Given the description of an element on the screen output the (x, y) to click on. 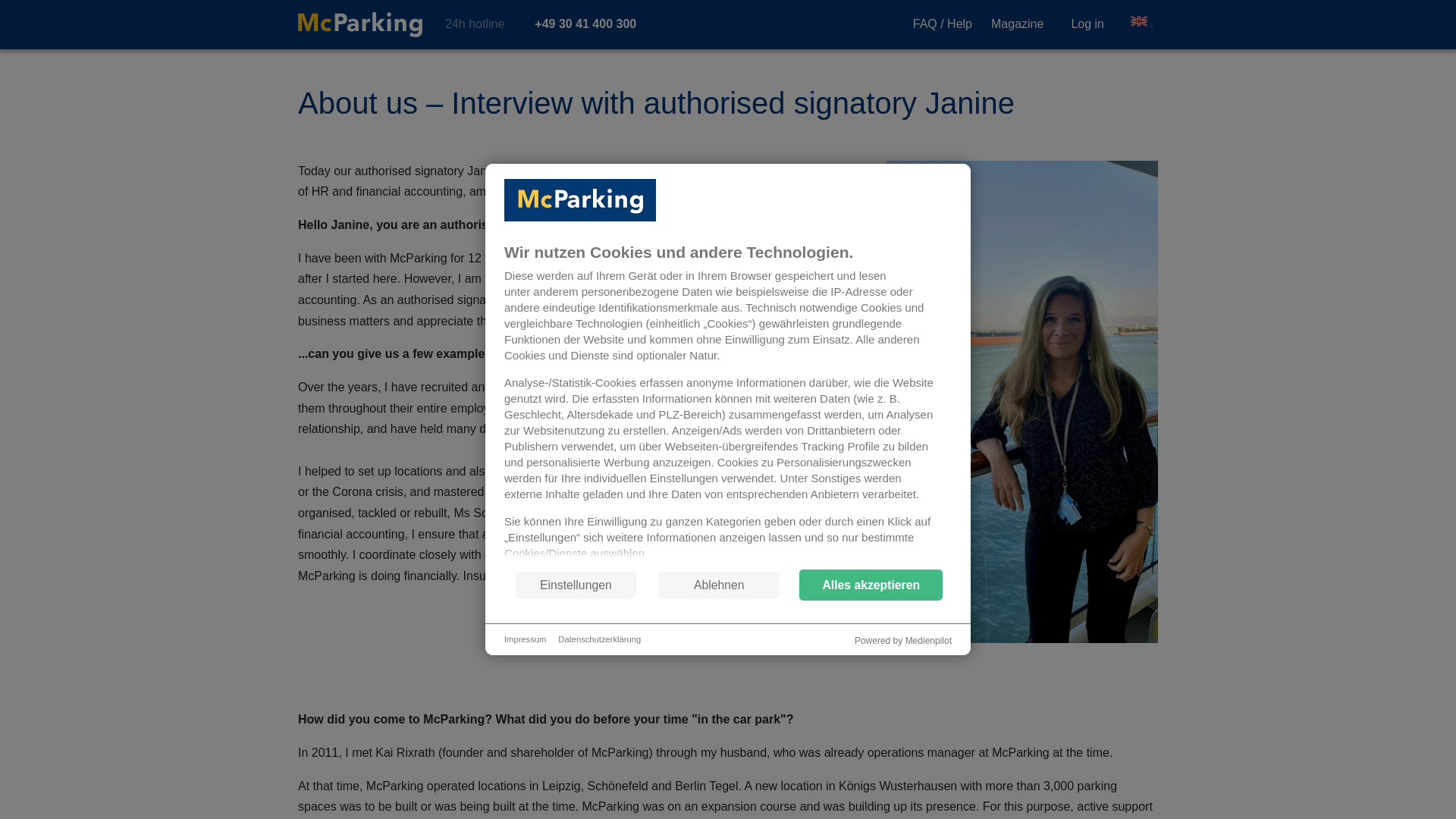
Log in (1086, 24)
Magazine (1017, 23)
